Given the description of an element on the screen output the (x, y) to click on. 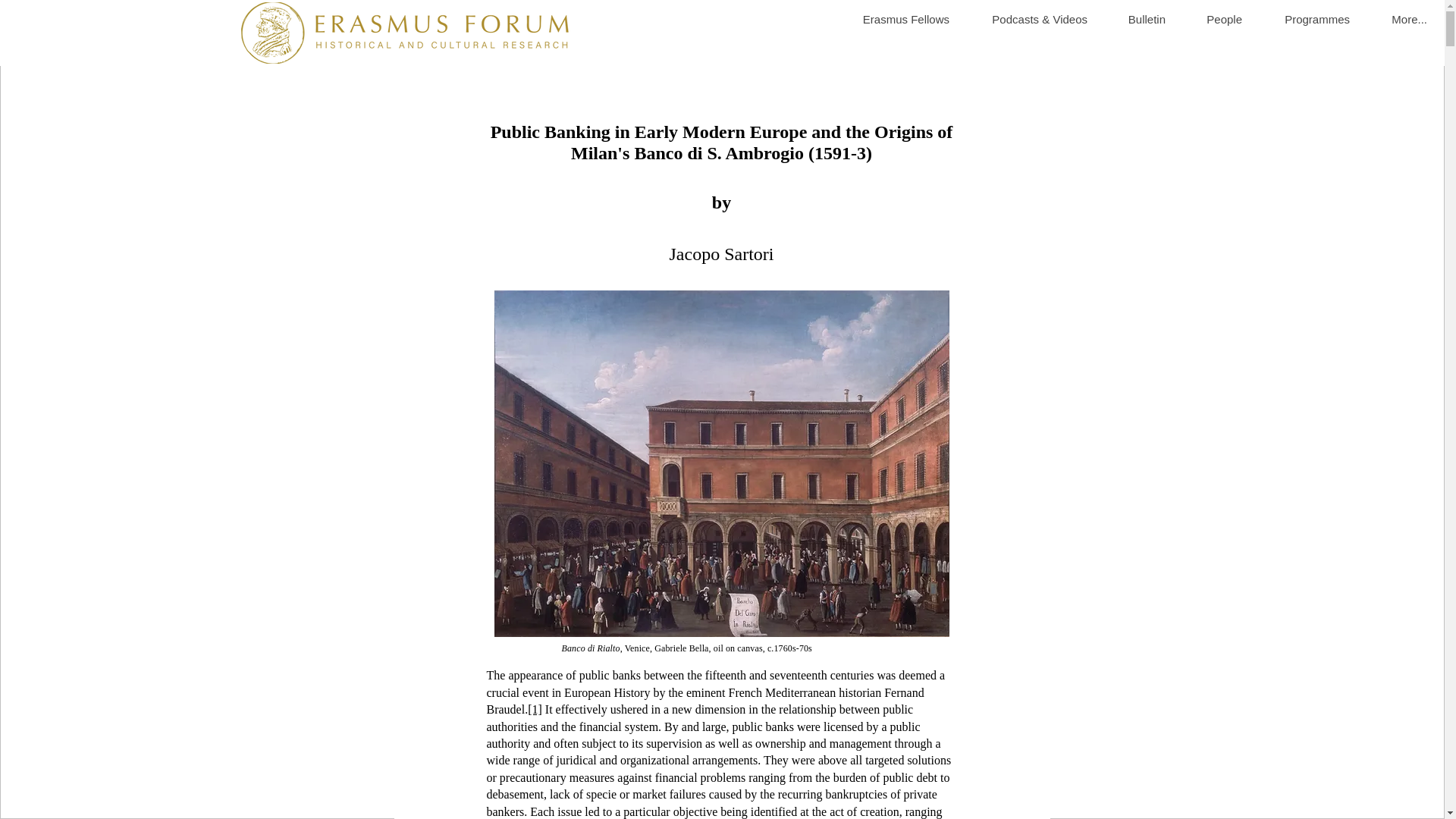
People (1214, 19)
Programmes (1307, 19)
Bulletin (1137, 19)
Erasmus Fellows (896, 19)
